Given the description of an element on the screen output the (x, y) to click on. 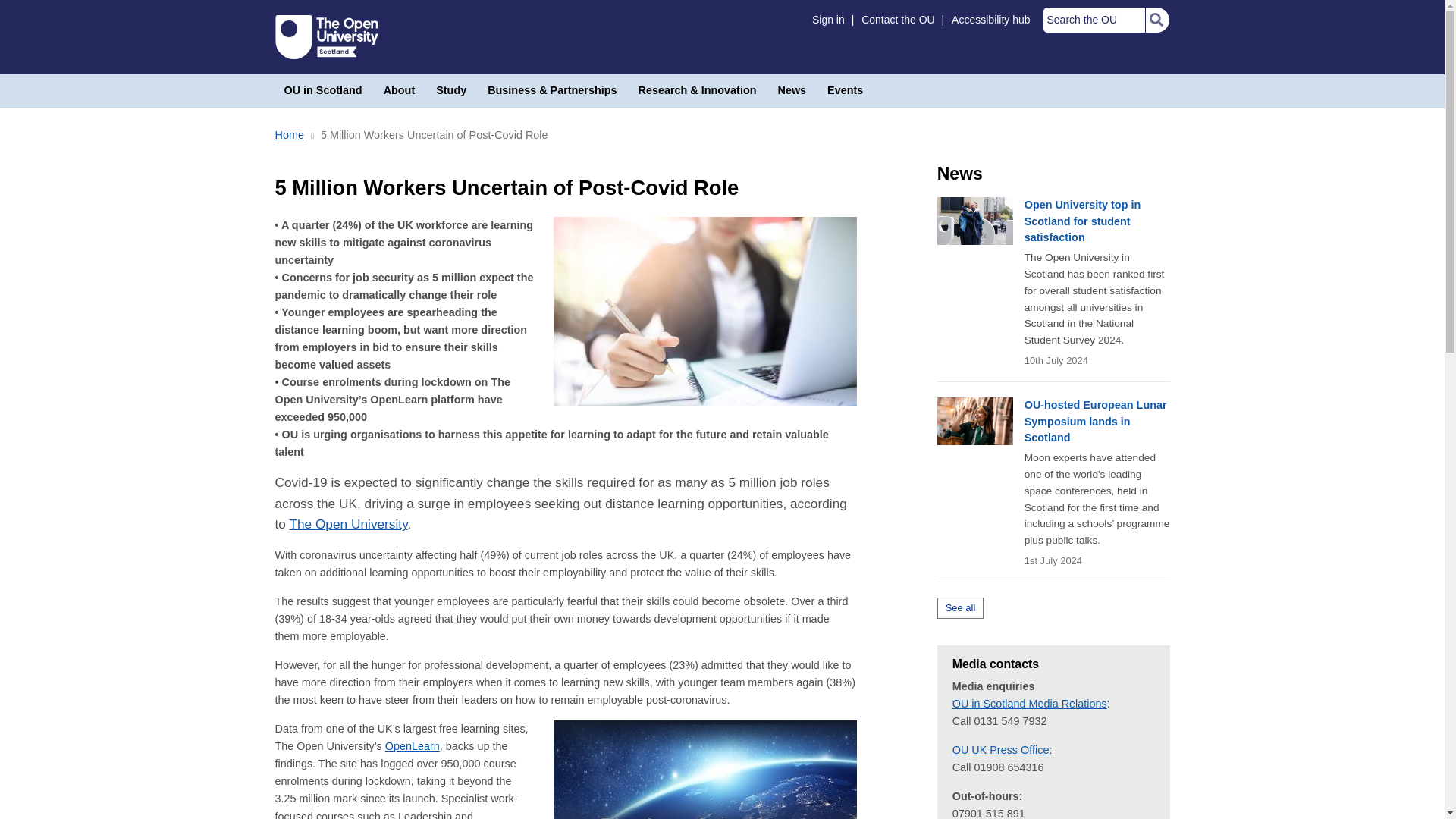
News (791, 90)
The Open University (326, 36)
Woman with notepad and laptop (705, 311)
Home (288, 134)
OU in Scotland (323, 90)
Accessibility hub (990, 19)
Events (845, 90)
About (399, 90)
Sign in (828, 19)
Study (451, 90)
OpenLearn (412, 746)
Search (1156, 19)
Contact the OU (898, 19)
